Given the description of an element on the screen output the (x, y) to click on. 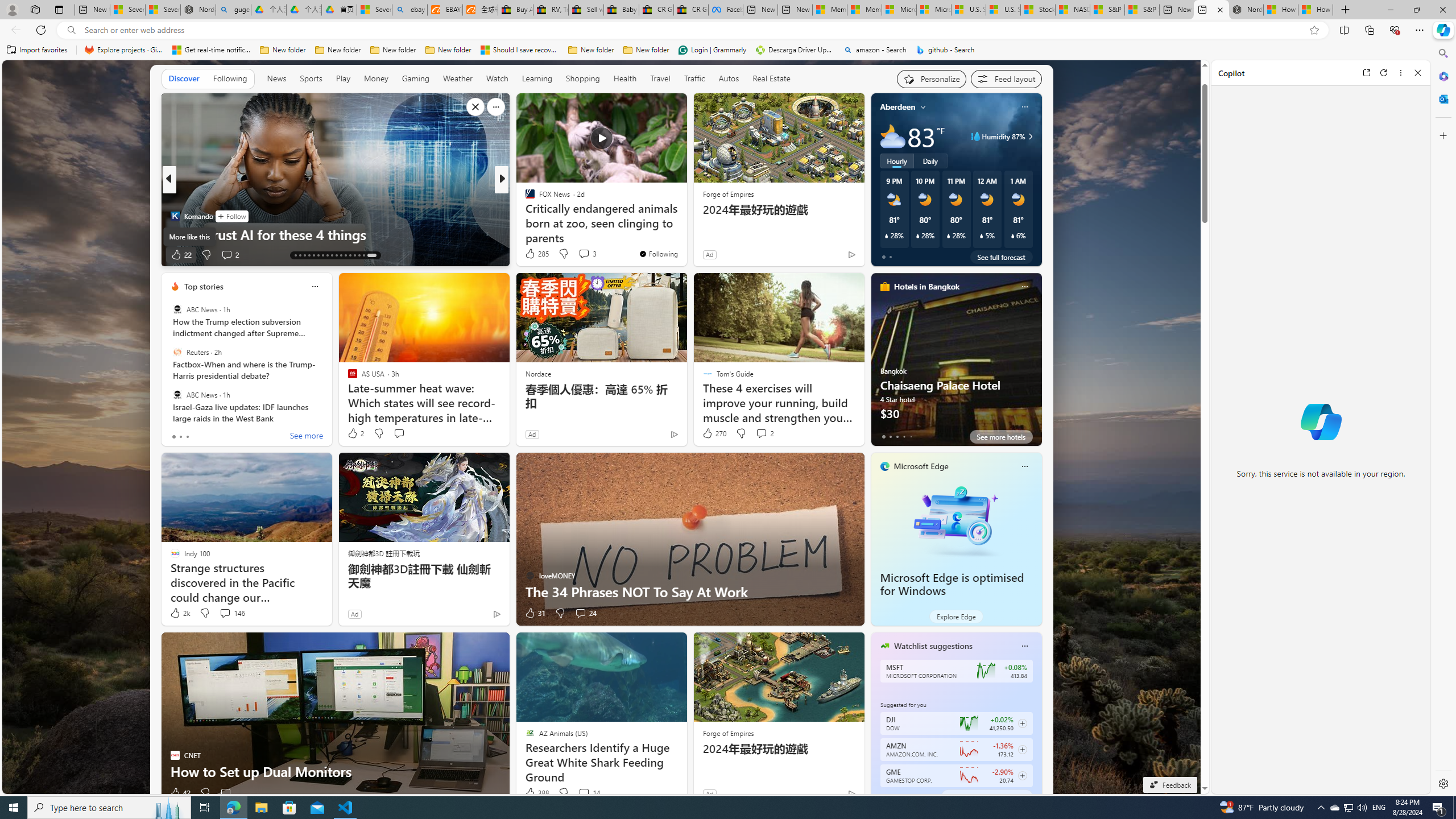
Customize (1442, 135)
Health (624, 78)
AutomationID: tab-40 (358, 255)
AutomationID: tab-14 (299, 255)
388 Like (536, 792)
Sell worldwide with eBay (585, 9)
Traffic (694, 79)
AutomationID: tab-20 (327, 255)
News (277, 79)
AutomationID: tab-24 (345, 255)
Outlook (1442, 98)
Hourly (896, 160)
